Given the description of an element on the screen output the (x, y) to click on. 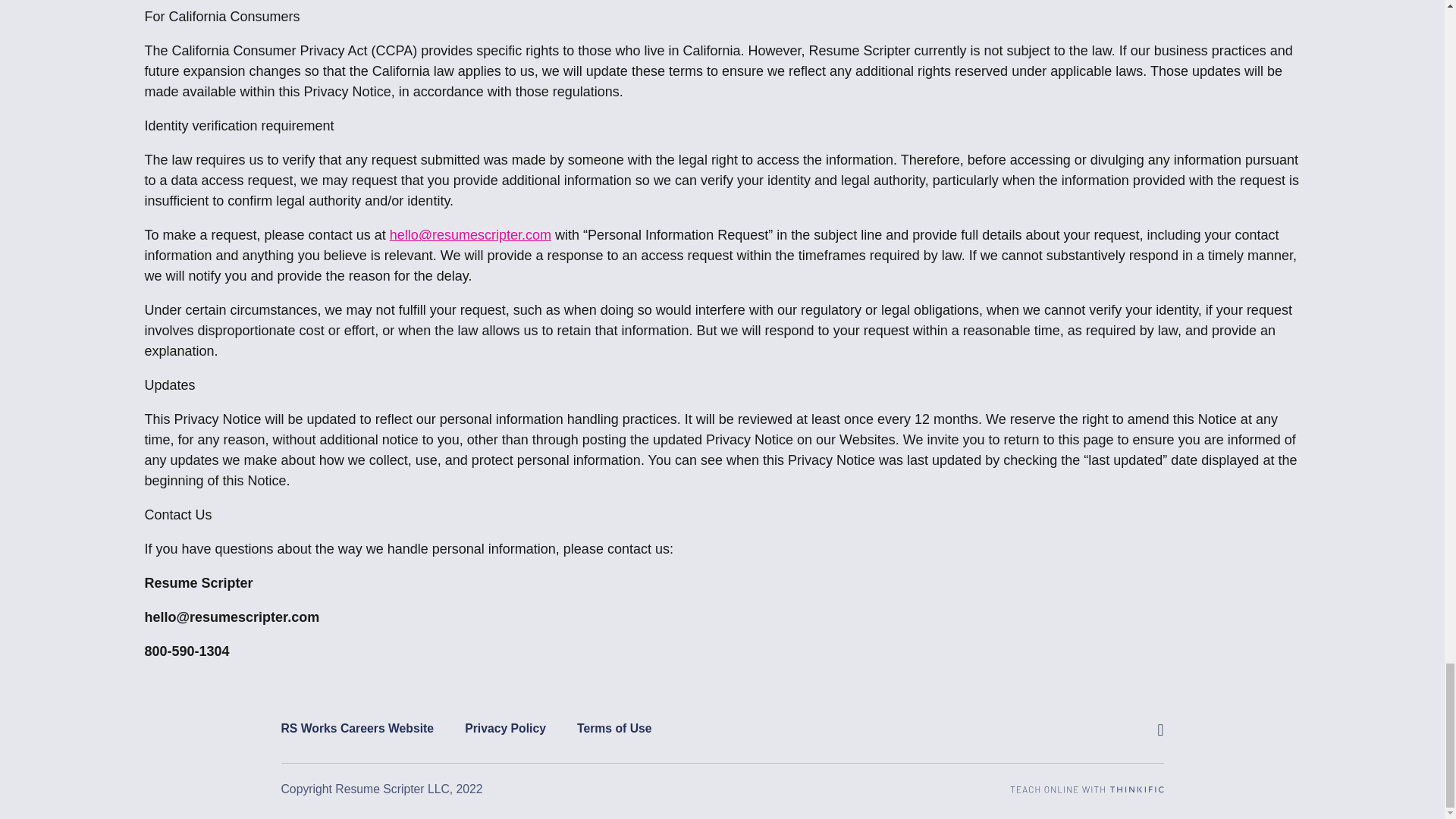
Terms of Use (614, 728)
Teach online with Thinkific (1086, 789)
RS Works Careers Website (1086, 788)
Privacy Policy (357, 728)
